Given the description of an element on the screen output the (x, y) to click on. 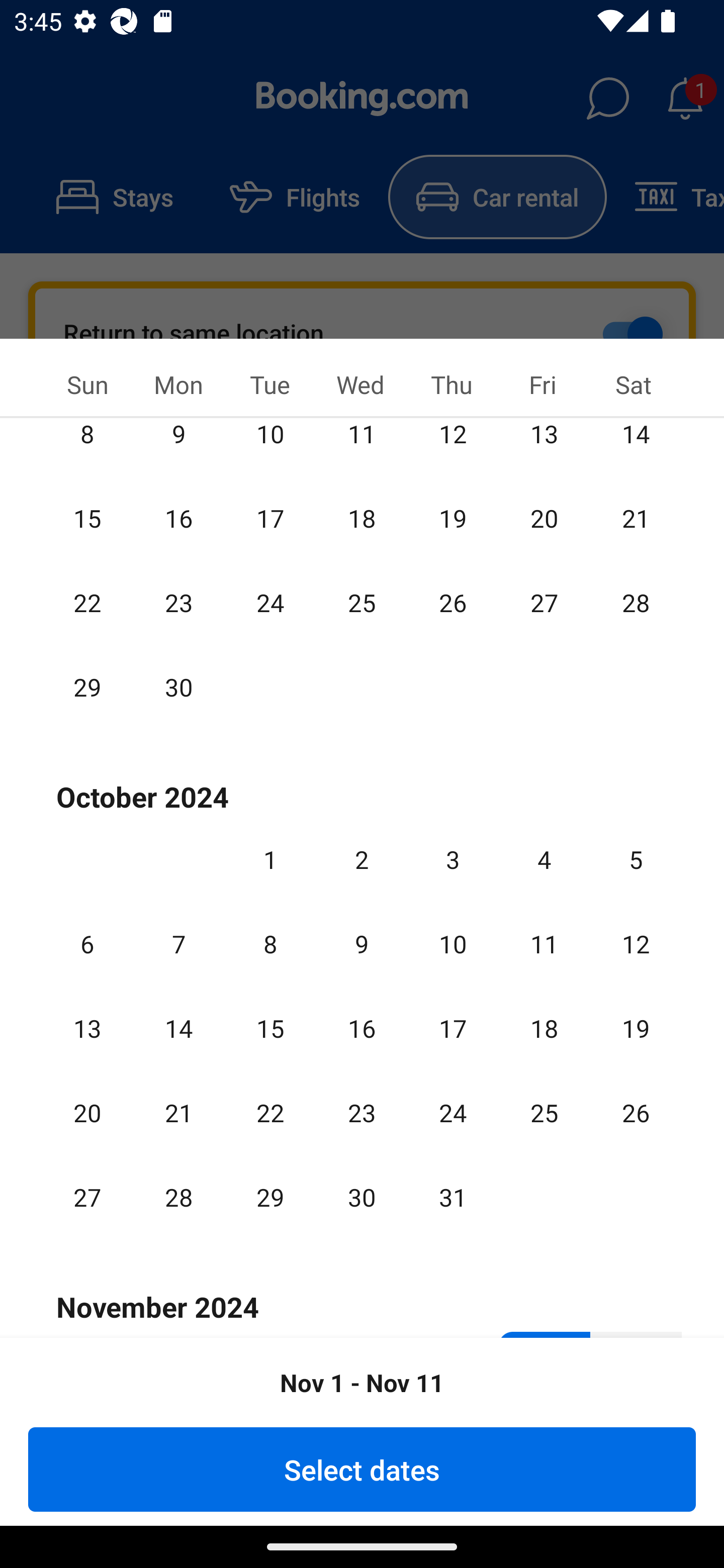
Select dates (361, 1468)
